Given the description of an element on the screen output the (x, y) to click on. 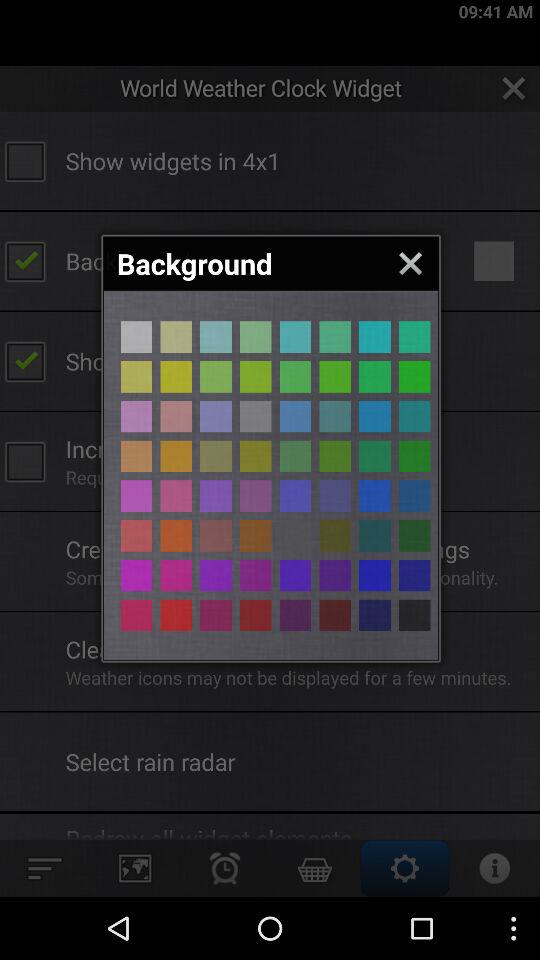
select the background color (176, 535)
